Given the description of an element on the screen output the (x, y) to click on. 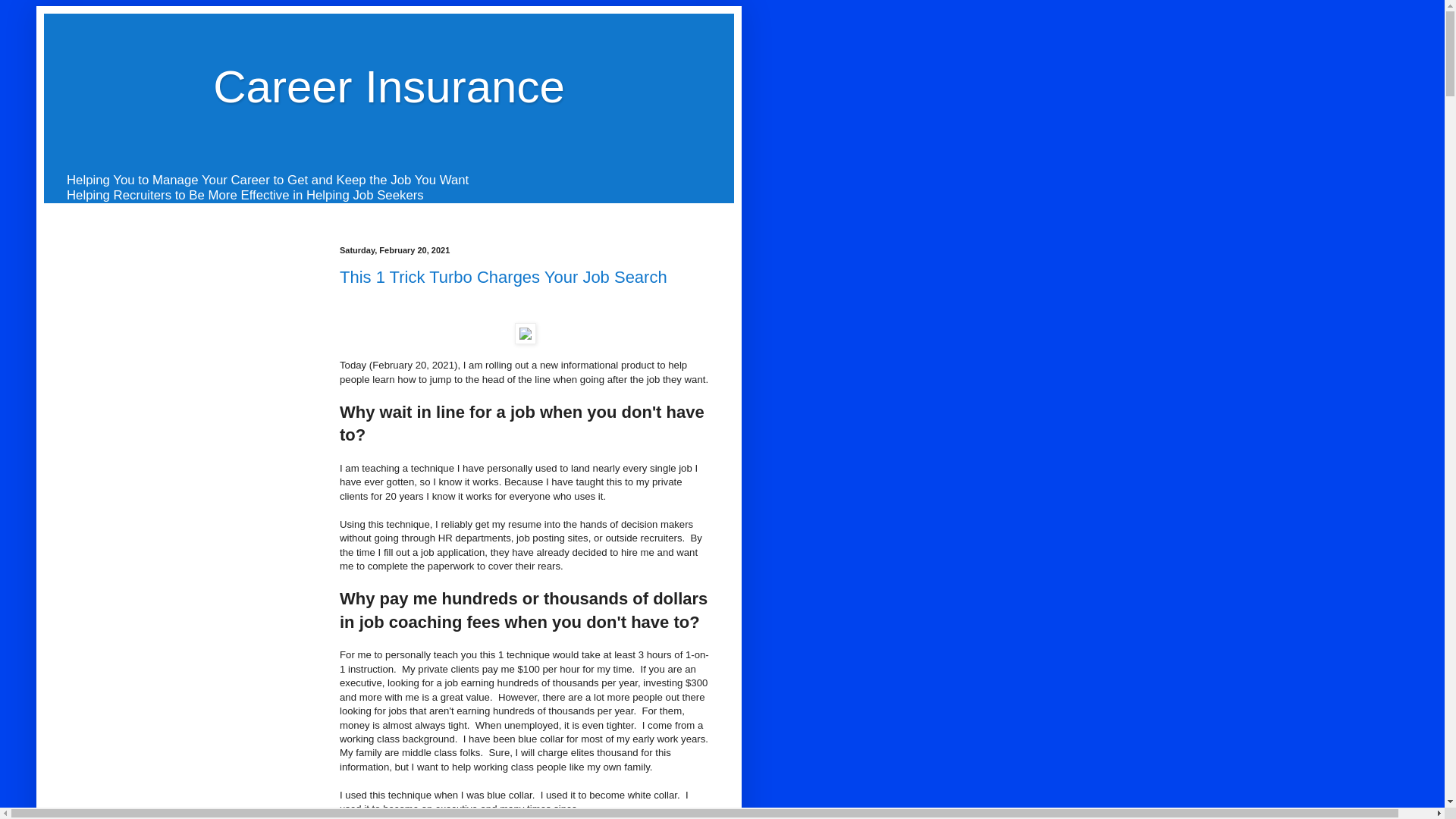
This 1 Trick Turbo Charges Your Job Search (502, 276)
